Given the description of an element on the screen output the (x, y) to click on. 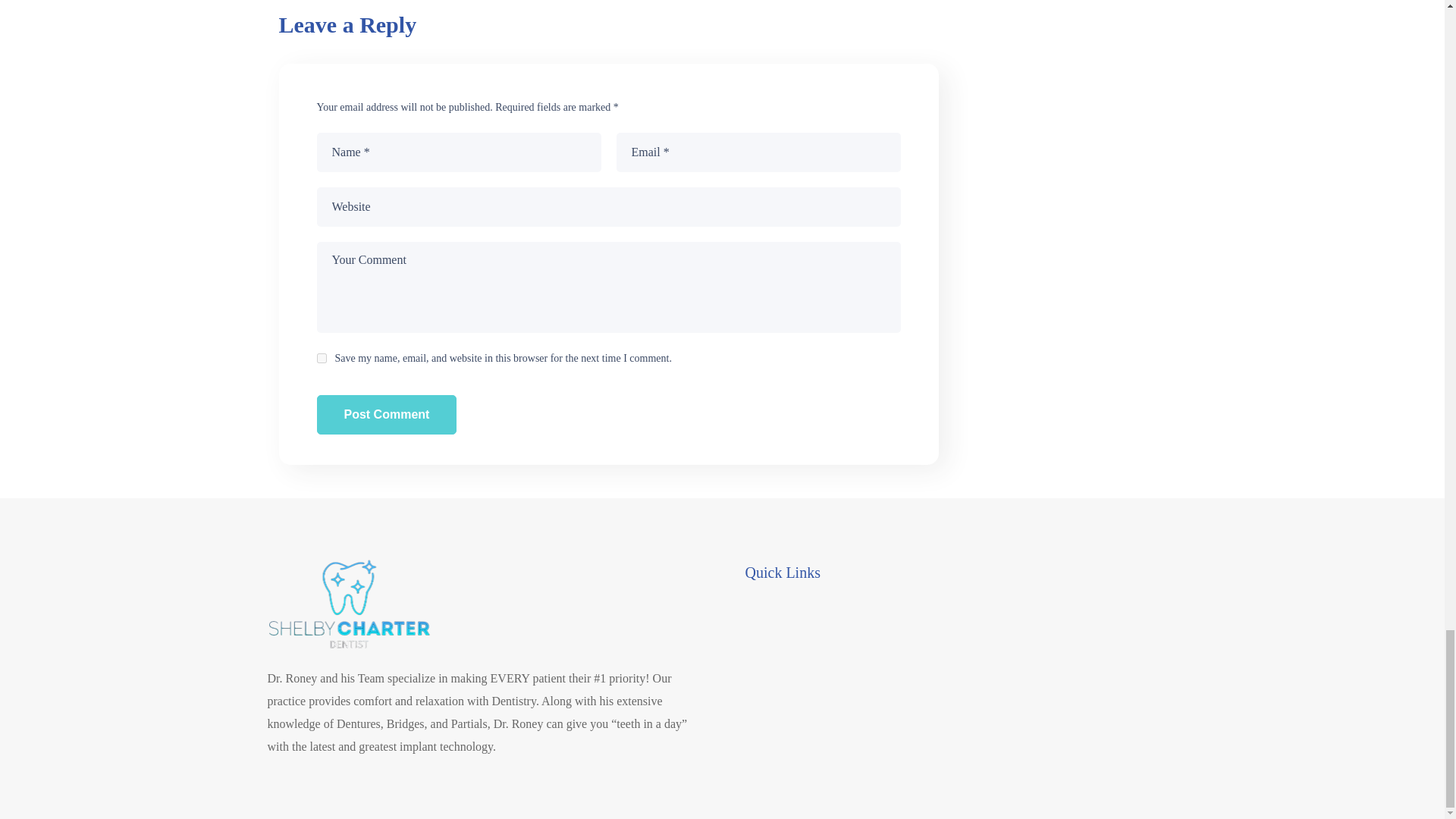
yes (321, 357)
Post Comment (387, 414)
Website (609, 206)
